Given the description of an element on the screen output the (x, y) to click on. 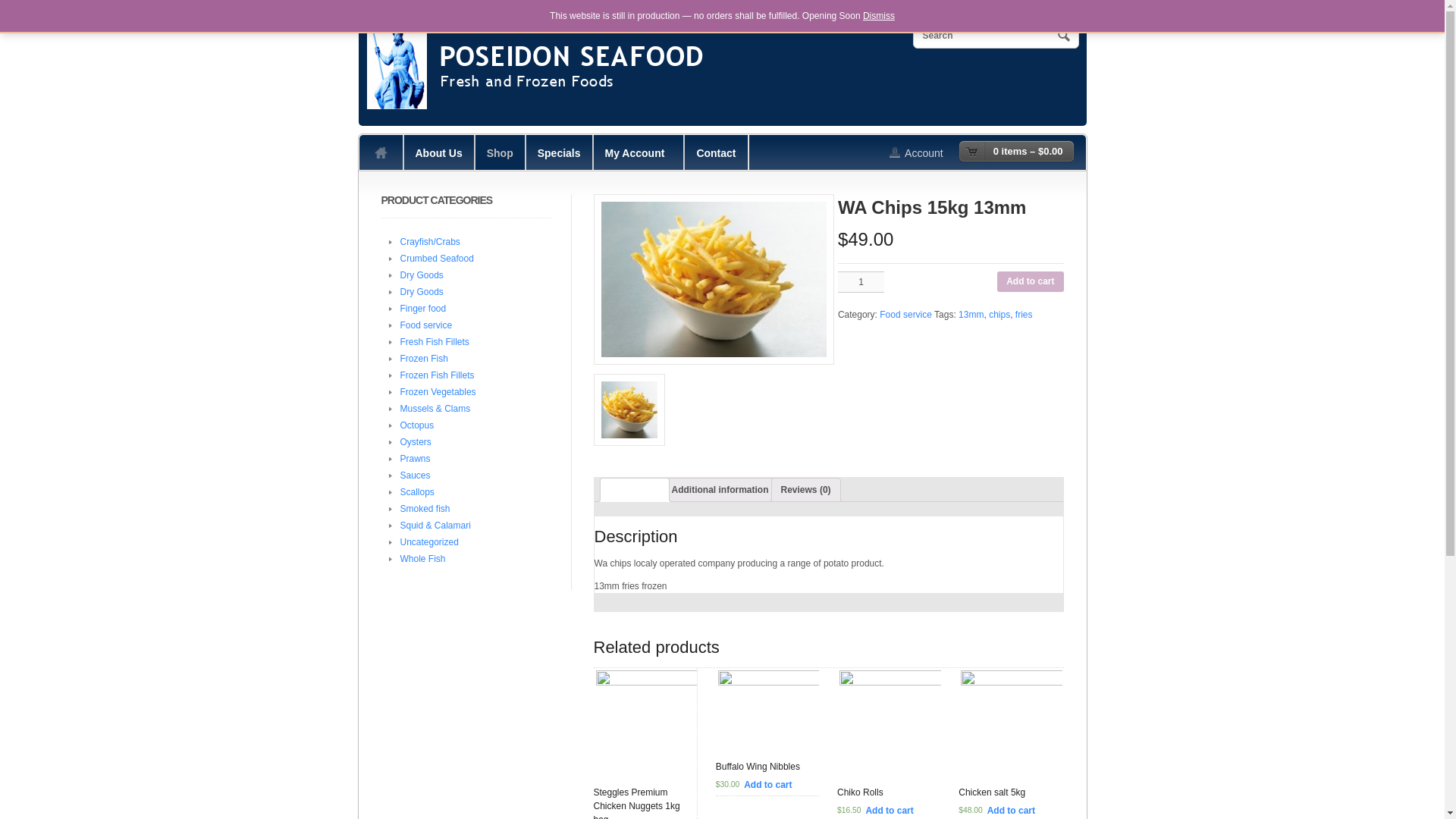
Add to cart (1011, 809)
Add to cart (888, 809)
chips (999, 314)
Finger food (423, 308)
wa chips (713, 279)
Shop (499, 152)
My Account (924, 152)
Qty (861, 281)
1 (861, 281)
Crumbed Seafood (437, 258)
Additional information (719, 489)
View your shopping cart (1016, 151)
Food service (426, 325)
13mm (971, 314)
Add to cart (768, 784)
